Given the description of an element on the screen output the (x, y) to click on. 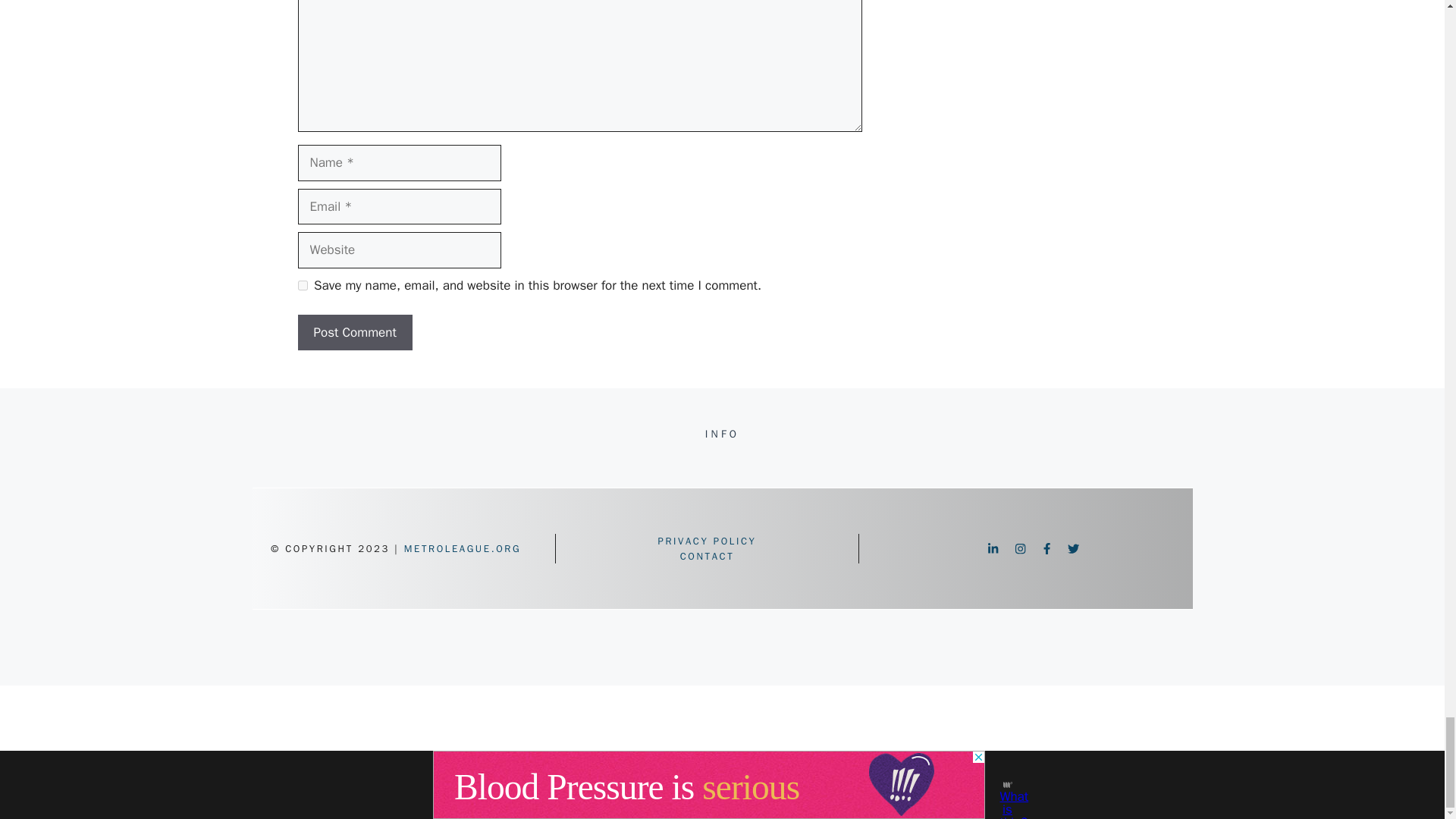
Post Comment (354, 332)
Post Comment (354, 332)
yes (302, 285)
